Given the description of an element on the screen output the (x, y) to click on. 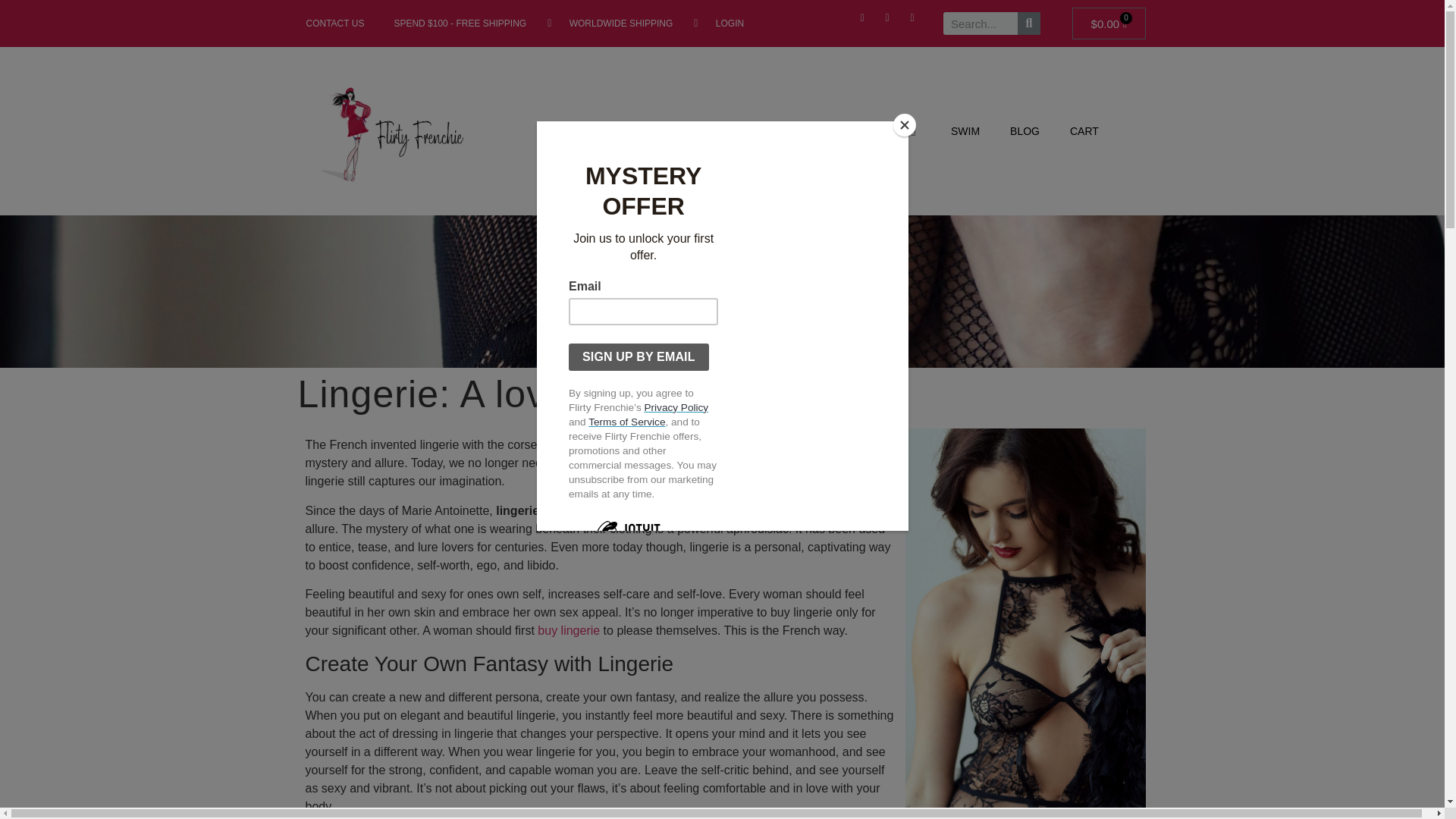
Search (980, 23)
Search (1029, 23)
CONTACT US (330, 23)
LOGIN (719, 23)
NEW ARRIVALS (590, 131)
